Given the description of an element on the screen output the (x, y) to click on. 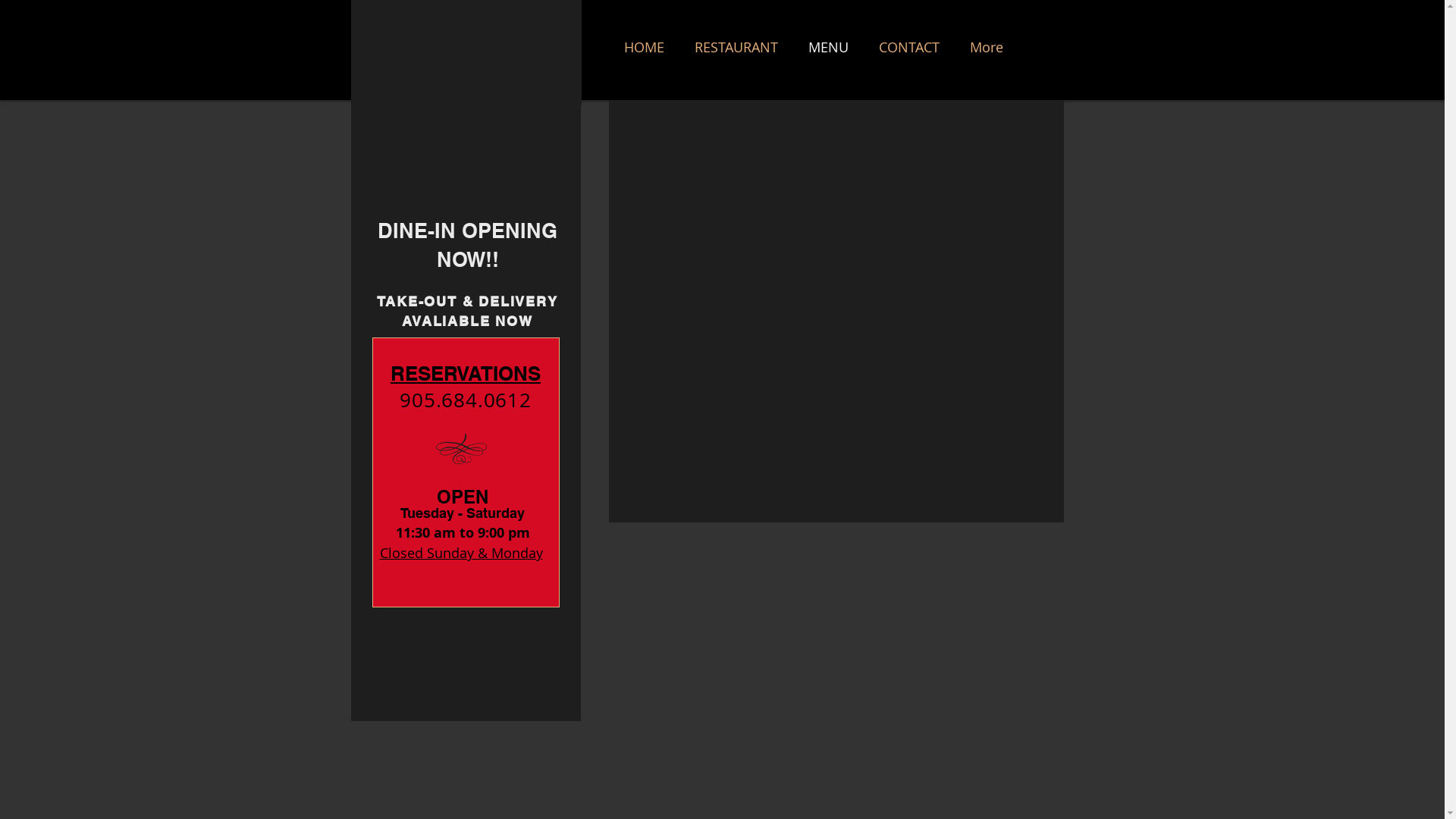
CONTACT Element type: text (907, 53)
HOME Element type: text (643, 53)
MENU Element type: text (828, 53)
RESTAURANT Element type: text (736, 53)
